Given the description of an element on the screen output the (x, y) to click on. 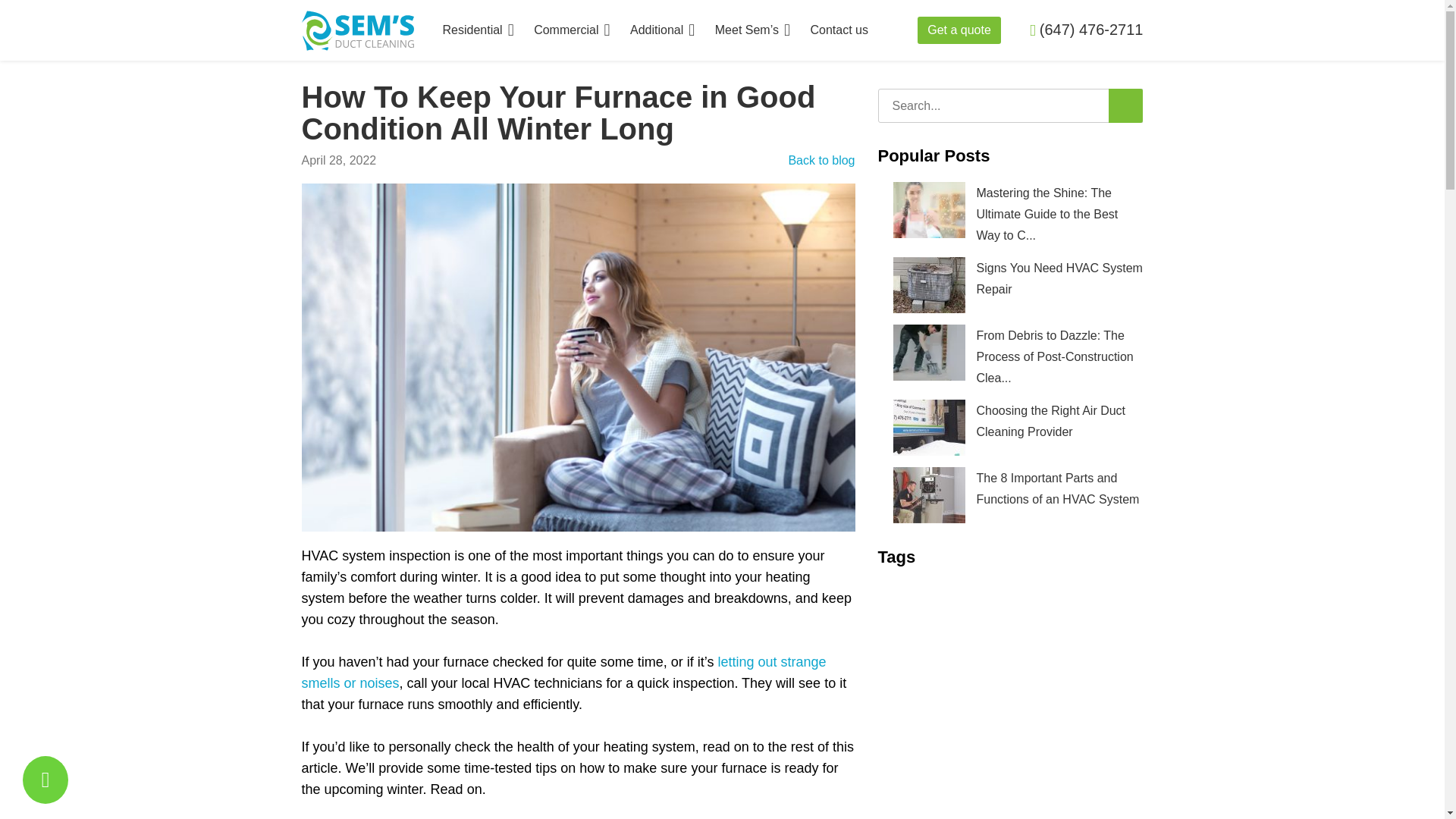
Residential (477, 30)
Commercial (571, 30)
Sem's Duct Cleaning Logotype (357, 29)
